Given the description of an element on the screen output the (x, y) to click on. 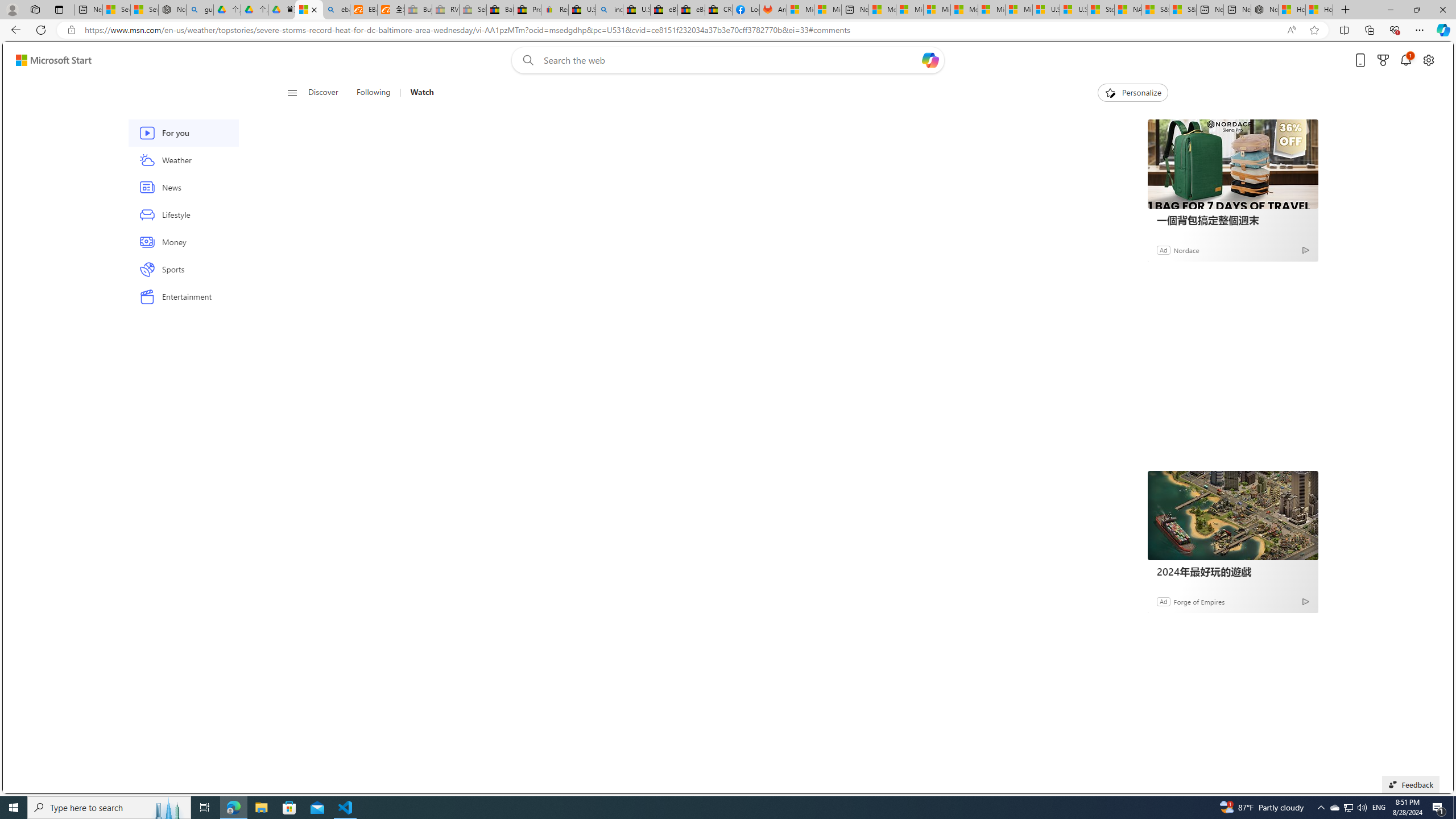
Open settings (1427, 60)
